Given the description of an element on the screen output the (x, y) to click on. 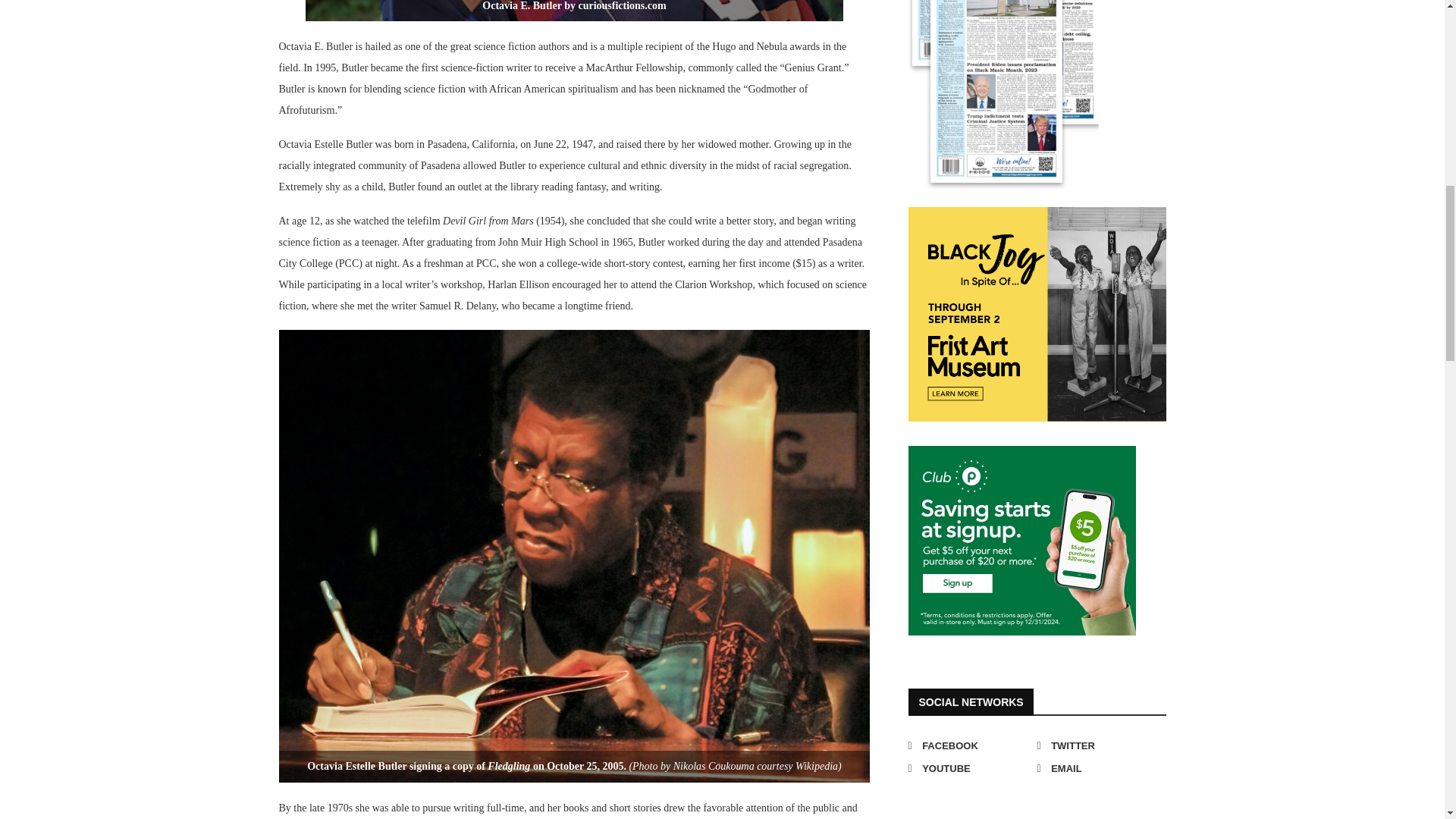
advertisement (1021, 540)
